Given the description of an element on the screen output the (x, y) to click on. 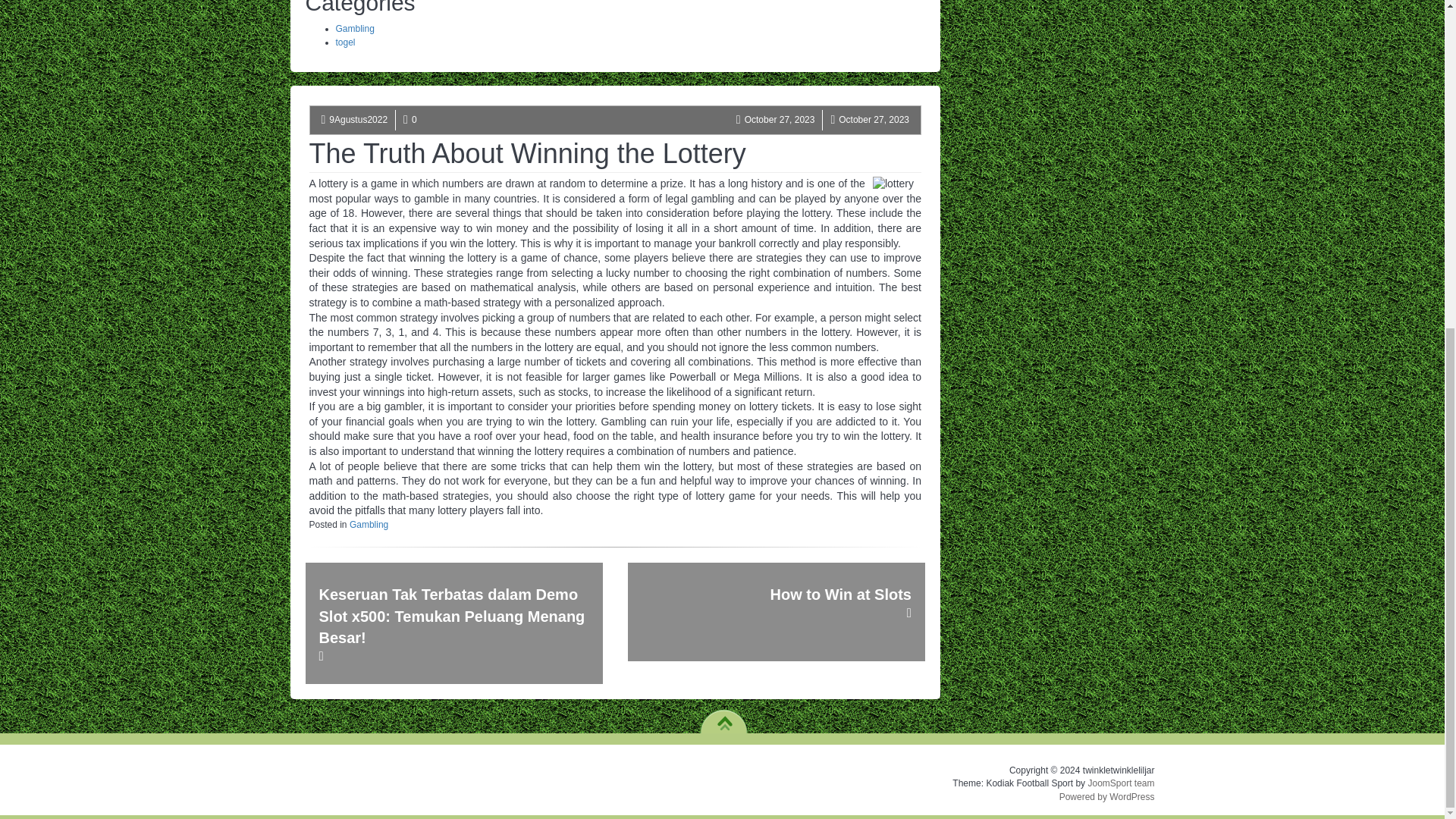
Gambling (354, 28)
 The Best WordPress Sport Plugin for your league and club  (1120, 783)
togel (344, 41)
9Agustus2022 (358, 119)
How to Win at Slots (775, 611)
Gambling (368, 524)
